Given the description of an element on the screen output the (x, y) to click on. 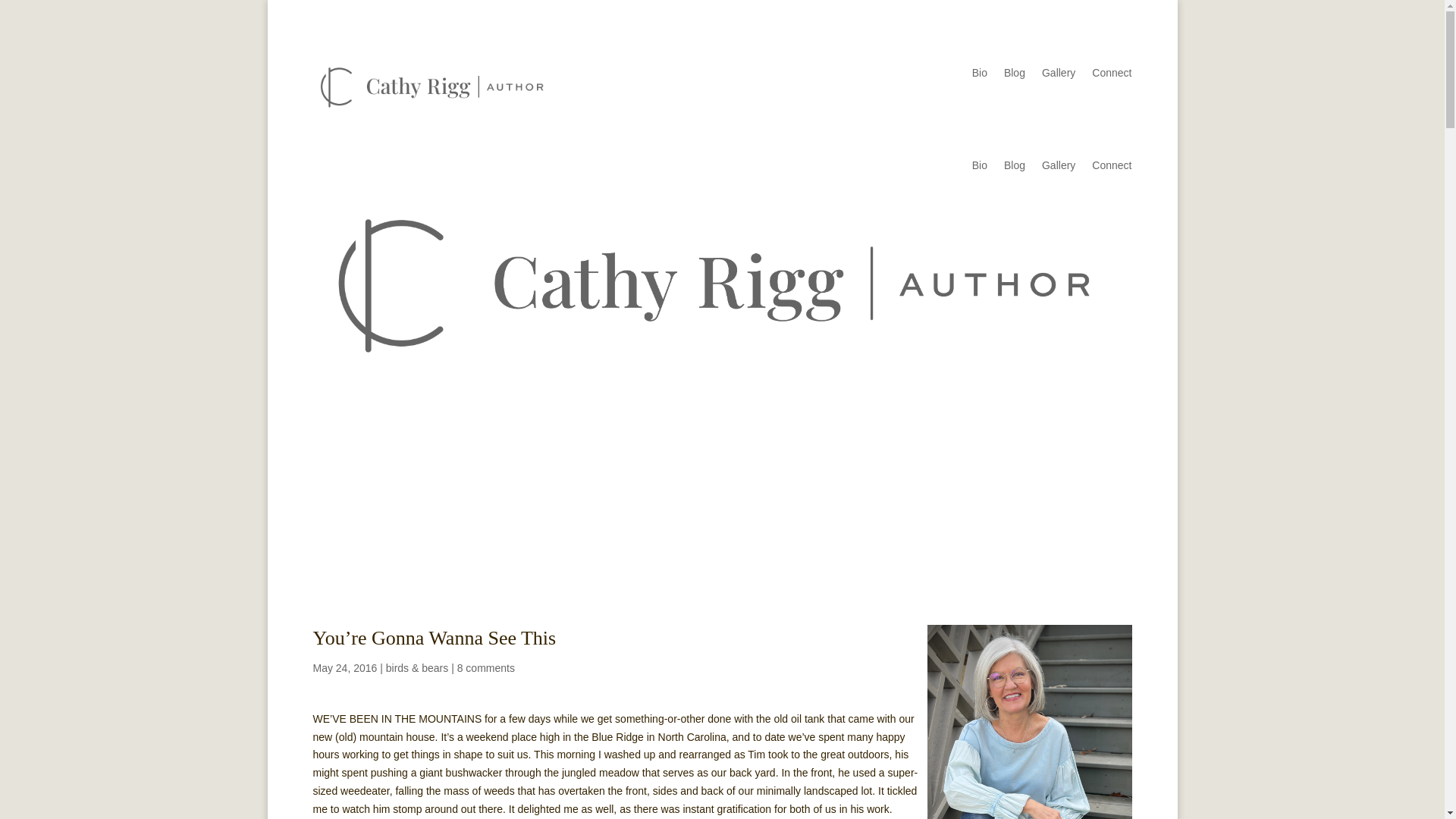
Gallery (1058, 75)
CRW home (1028, 721)
Gallery (1058, 167)
Blog (1014, 167)
Bio (979, 167)
Bio (979, 75)
Connect (1111, 75)
Blog (1014, 75)
Connect (1111, 167)
8 comments (486, 667)
